Given the description of an element on the screen output the (x, y) to click on. 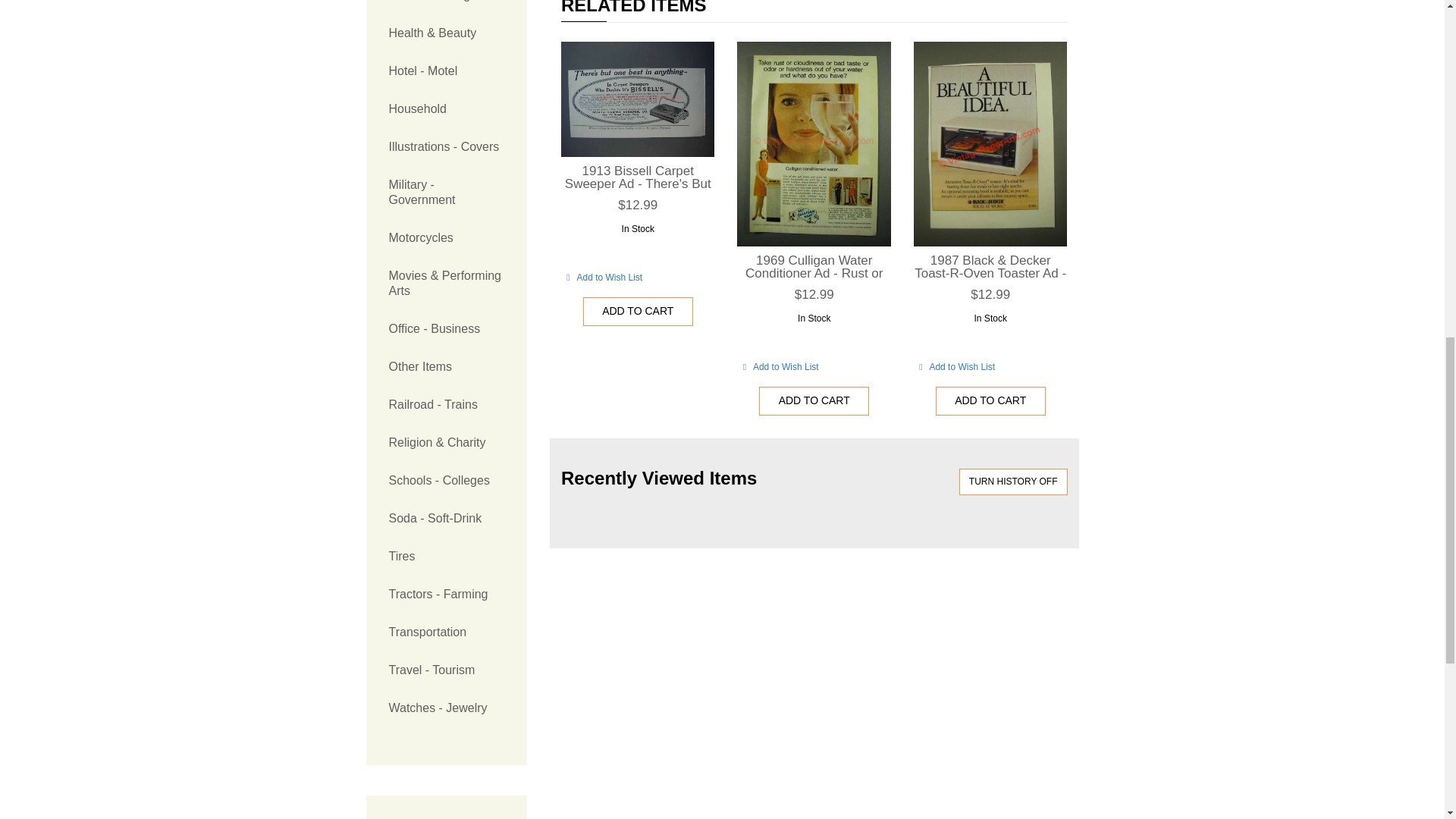
Guns - Hunting (445, 7)
Motorcycles (445, 238)
Household (445, 108)
Hotel - Motel (445, 71)
Office - Business (445, 329)
Illustrations - Covers (445, 146)
Other Items (445, 366)
Military - Government (445, 192)
